Given the description of an element on the screen output the (x, y) to click on. 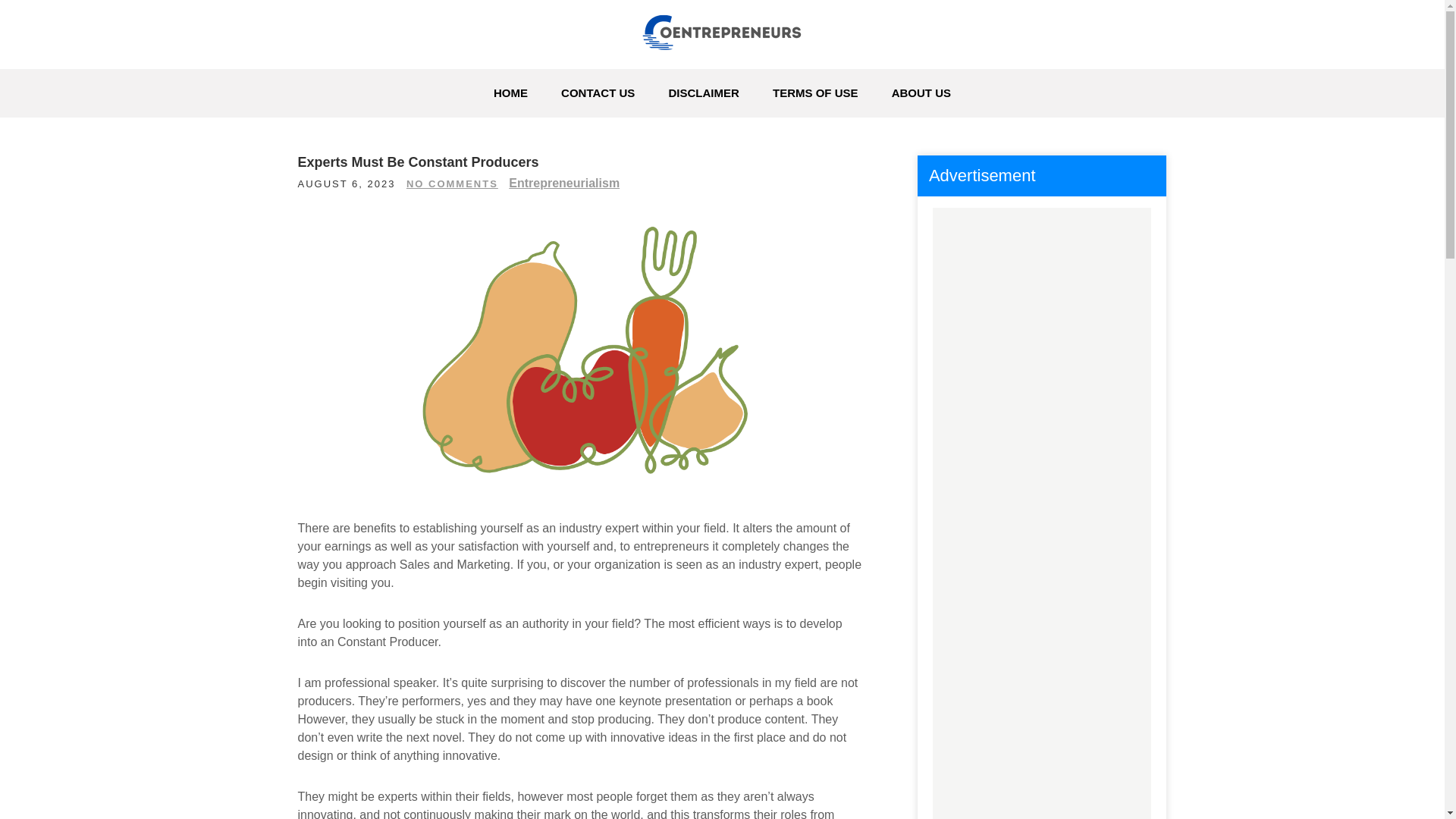
ABOUT US (921, 92)
Entrepreneurialism (564, 182)
NO COMMENTS (451, 183)
HOME (511, 92)
TERMS OF USE (815, 92)
POPPYLEAD (395, 77)
DISCLAIMER (703, 92)
Advertisement (1041, 778)
CONTACT US (597, 92)
